Given the description of an element on the screen output the (x, y) to click on. 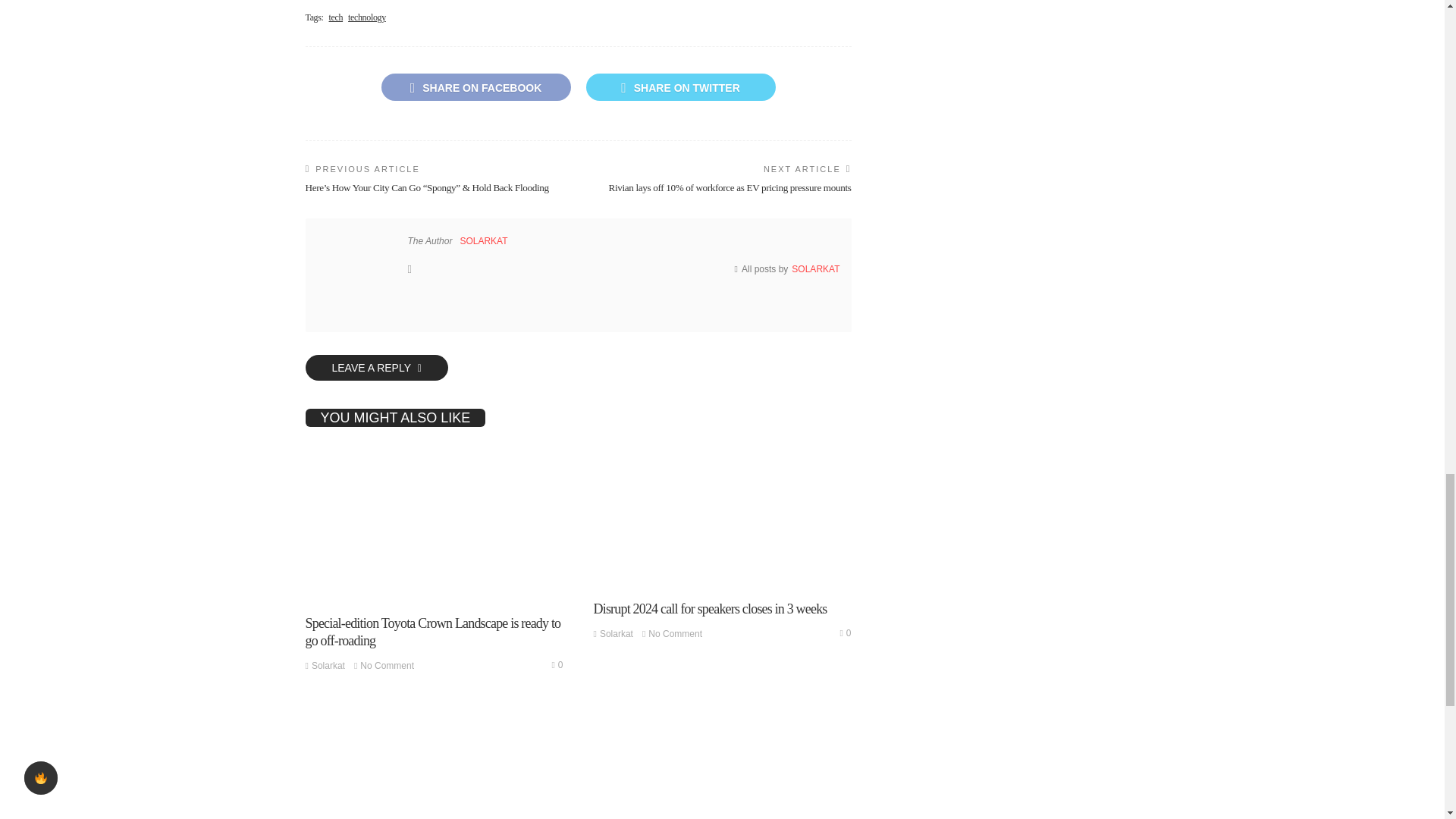
technology (366, 17)
tech (336, 17)
